Given the description of an element on the screen output the (x, y) to click on. 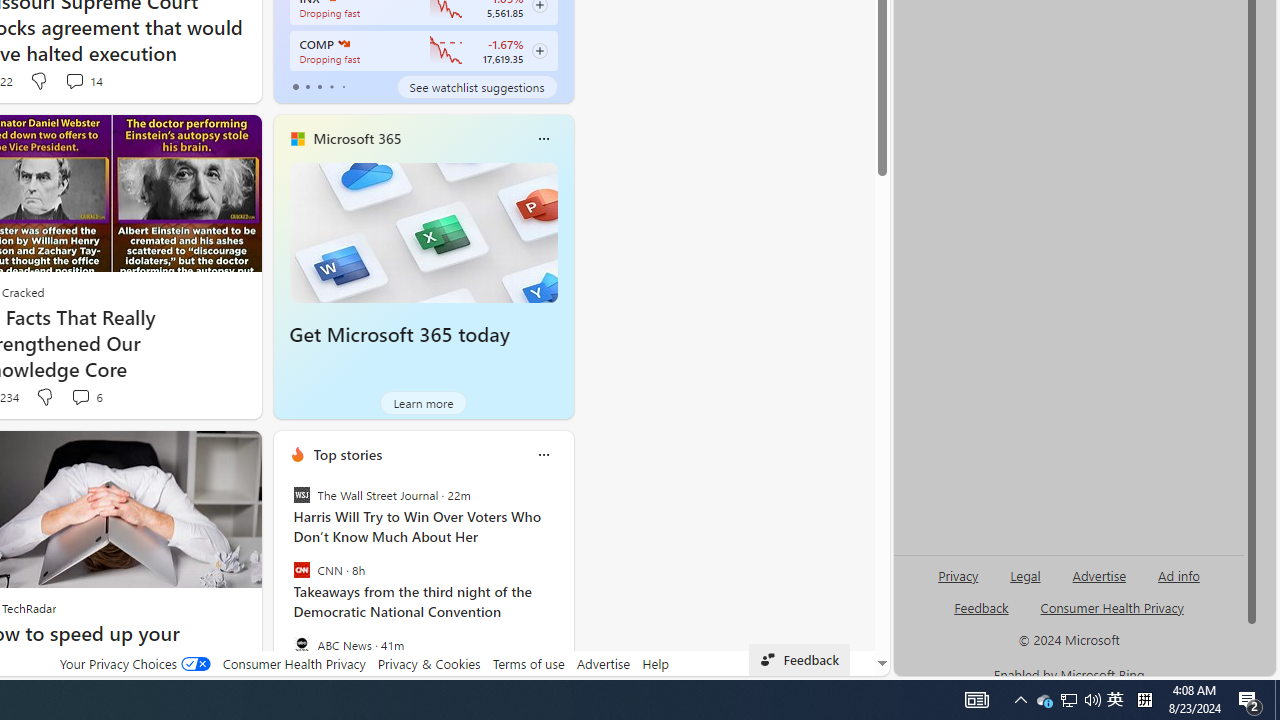
View comments 14 Comment (83, 80)
Top stories (347, 454)
tab-2 (319, 86)
AutomationID: sb_feedback (980, 607)
Hide this story (201, 454)
Class: follow-button  m (539, 51)
NASDAQ (342, 43)
View comments 6 Comment (86, 397)
